Given the description of an element on the screen output the (x, y) to click on. 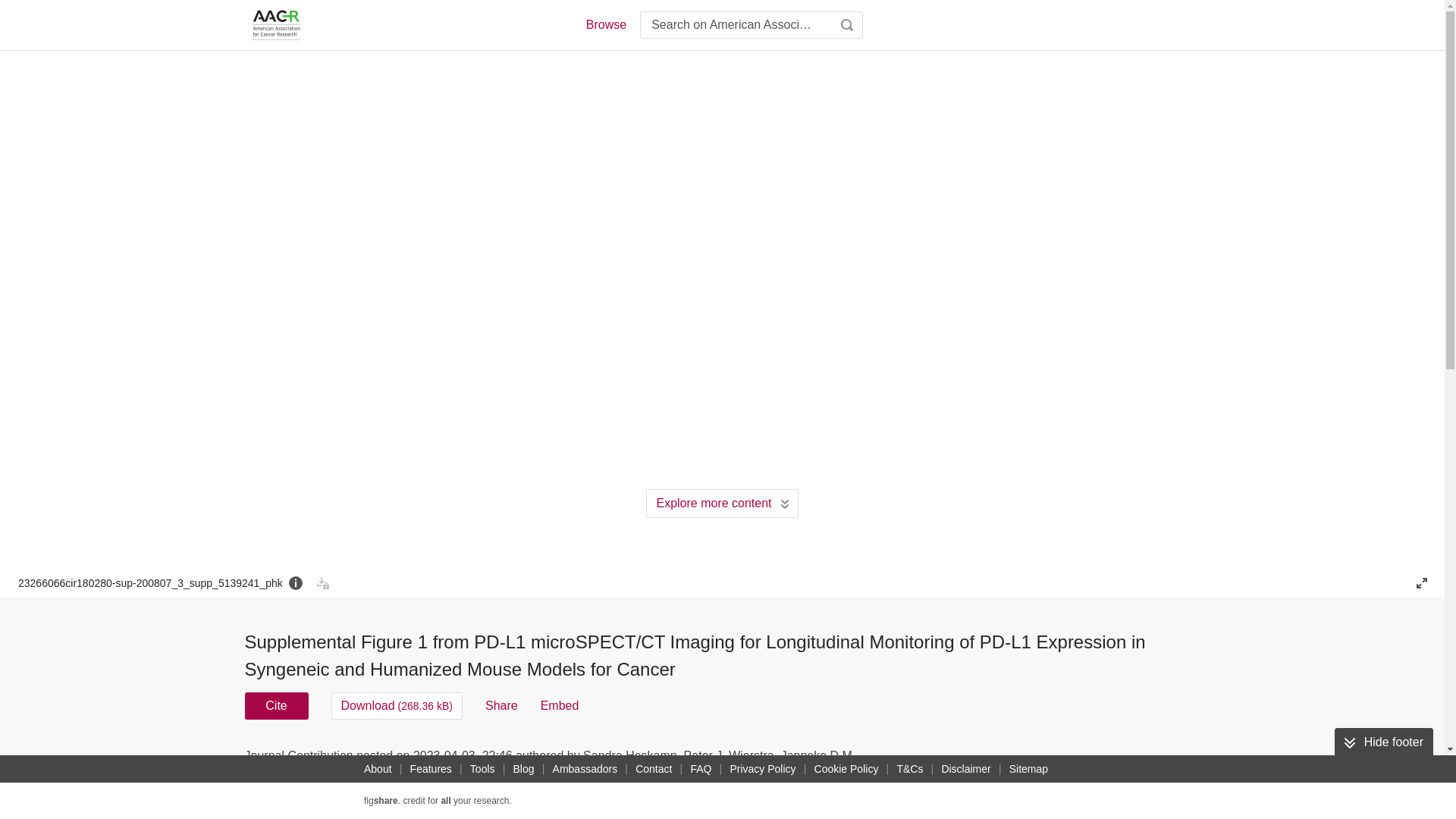
About (377, 769)
Contact (653, 769)
USAGE METRICS (976, 759)
Explore more content (721, 502)
Cite (275, 705)
Hide footer (1383, 742)
Embed (559, 705)
Ambassadors (585, 769)
Features (431, 769)
Blog (523, 769)
Browse (605, 24)
Share (501, 705)
Tools (482, 769)
